Given the description of an element on the screen output the (x, y) to click on. 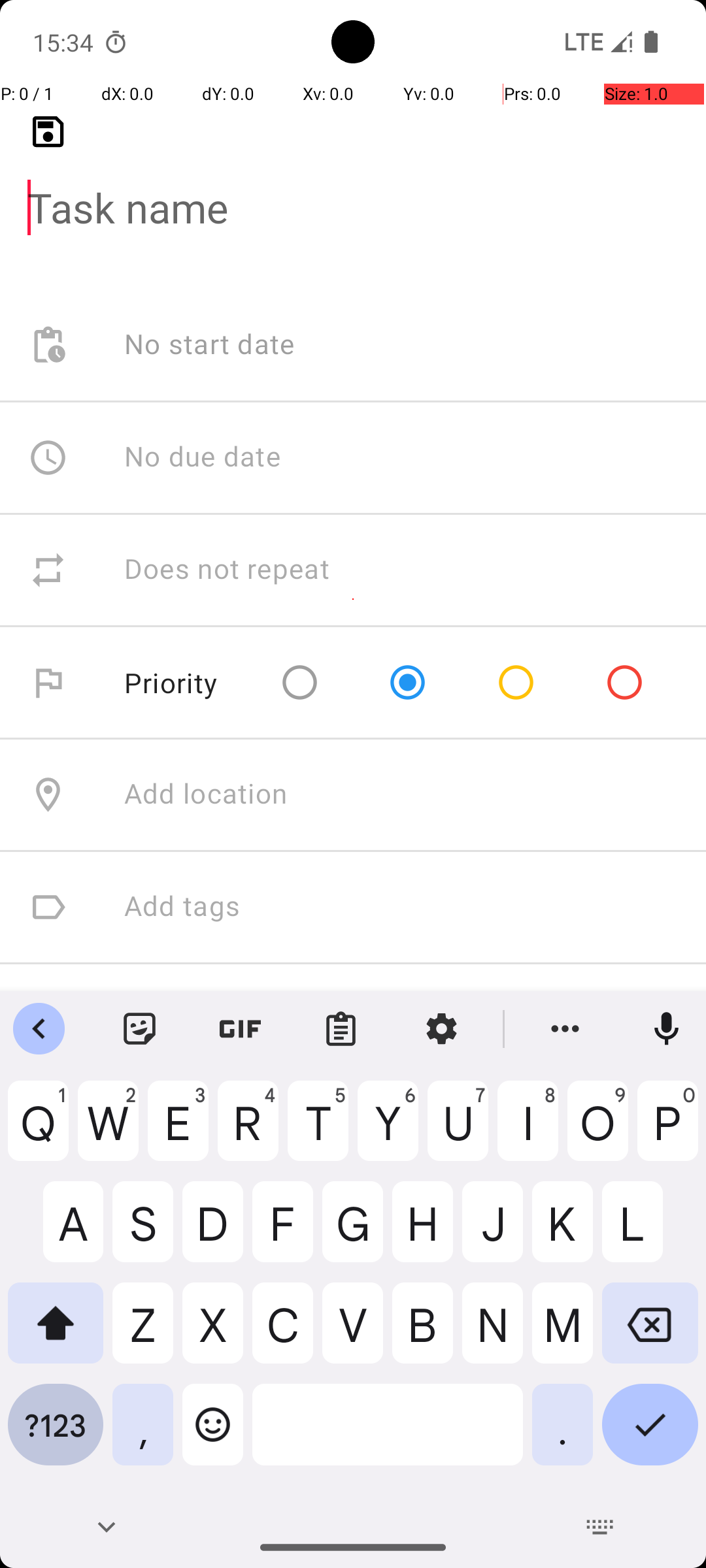
Task name Element type: android.widget.EditText (353, 186)
No due date Element type: android.widget.TextView (202, 457)
